Given the description of an element on the screen output the (x, y) to click on. 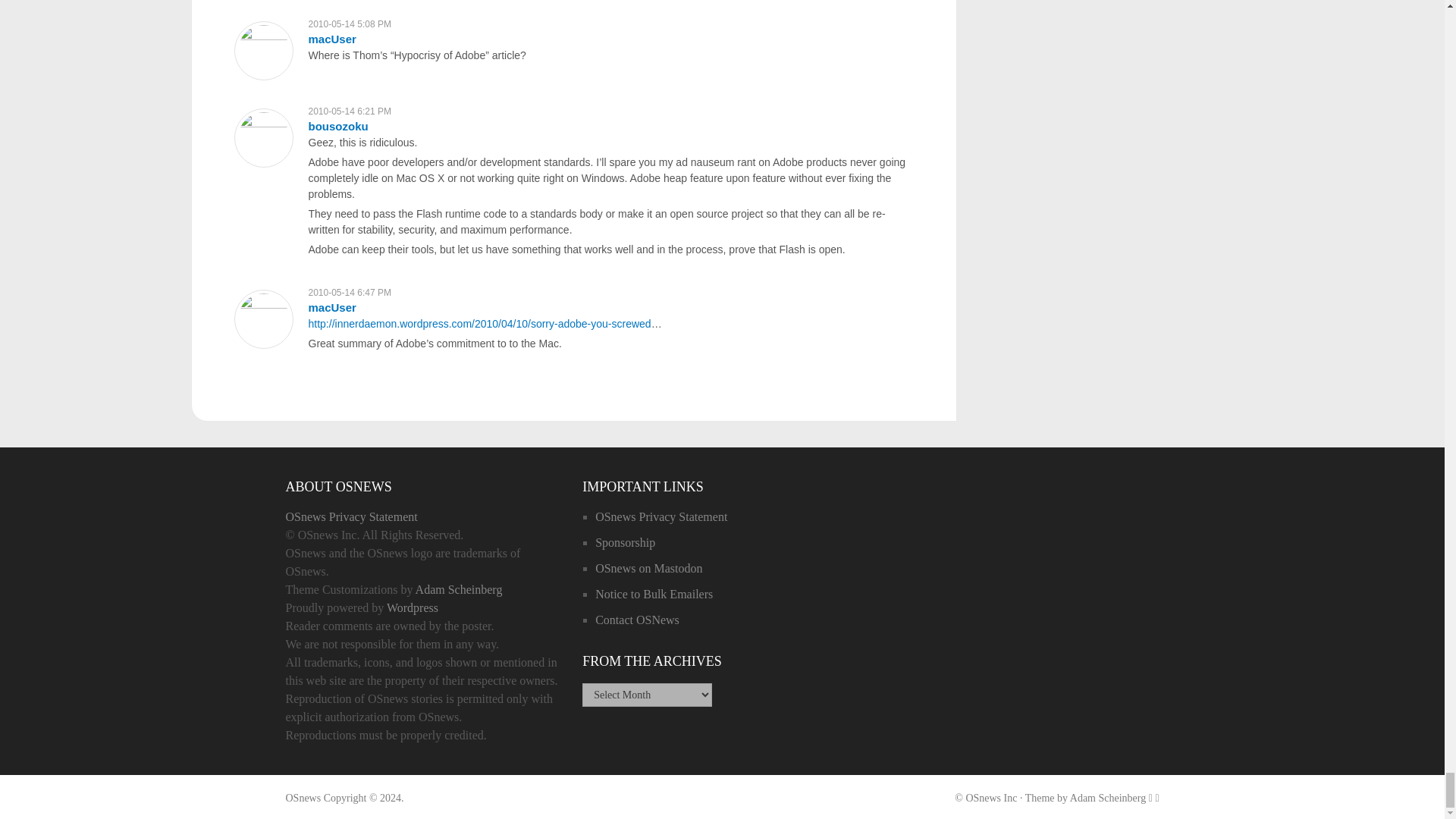
Exploring the Future of Computing (302, 797)
